Given the description of an element on the screen output the (x, y) to click on. 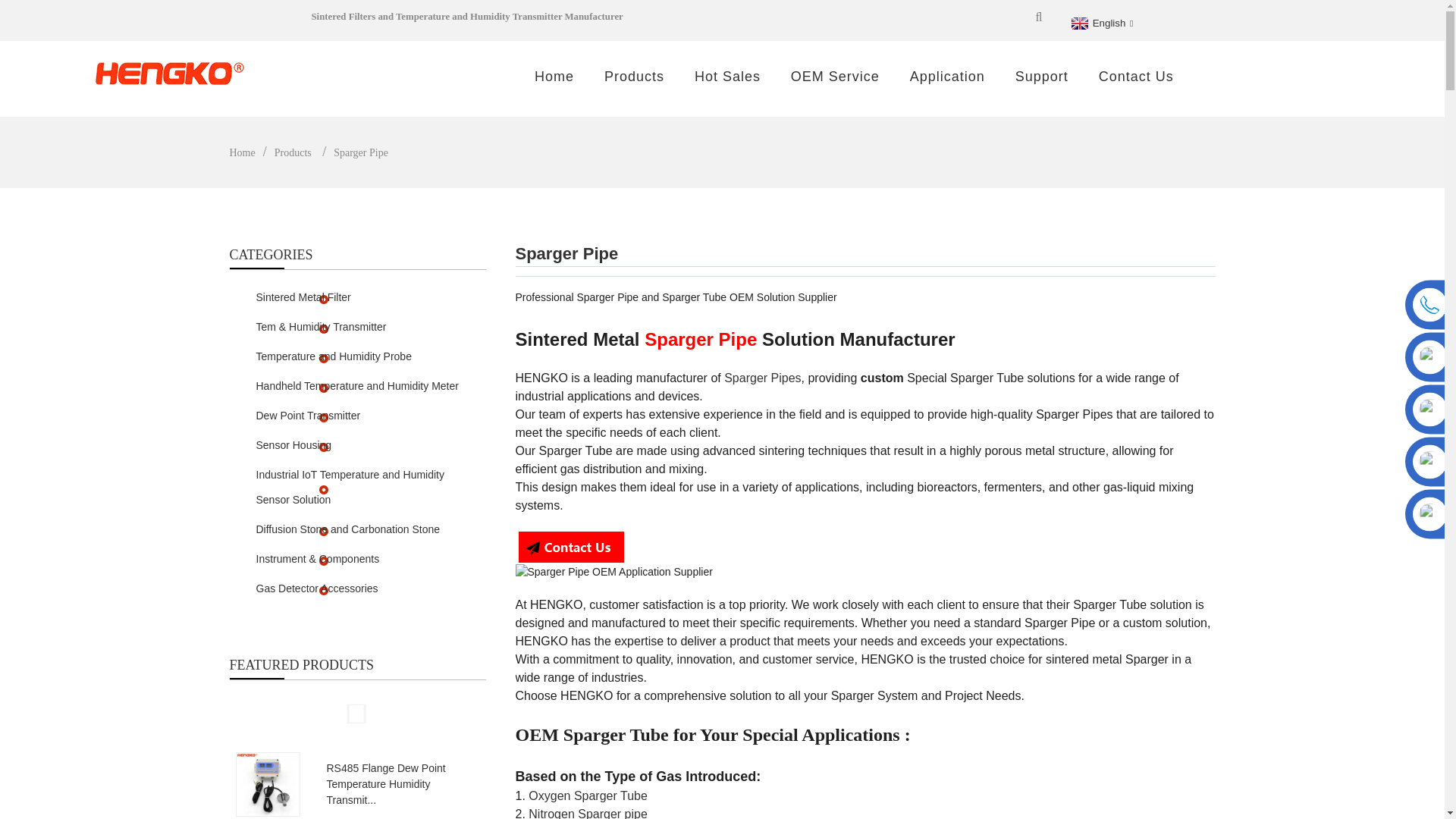
Hot Sales (727, 76)
English (1100, 22)
Products (633, 76)
Products (293, 152)
